Given the description of an element on the screen output the (x, y) to click on. 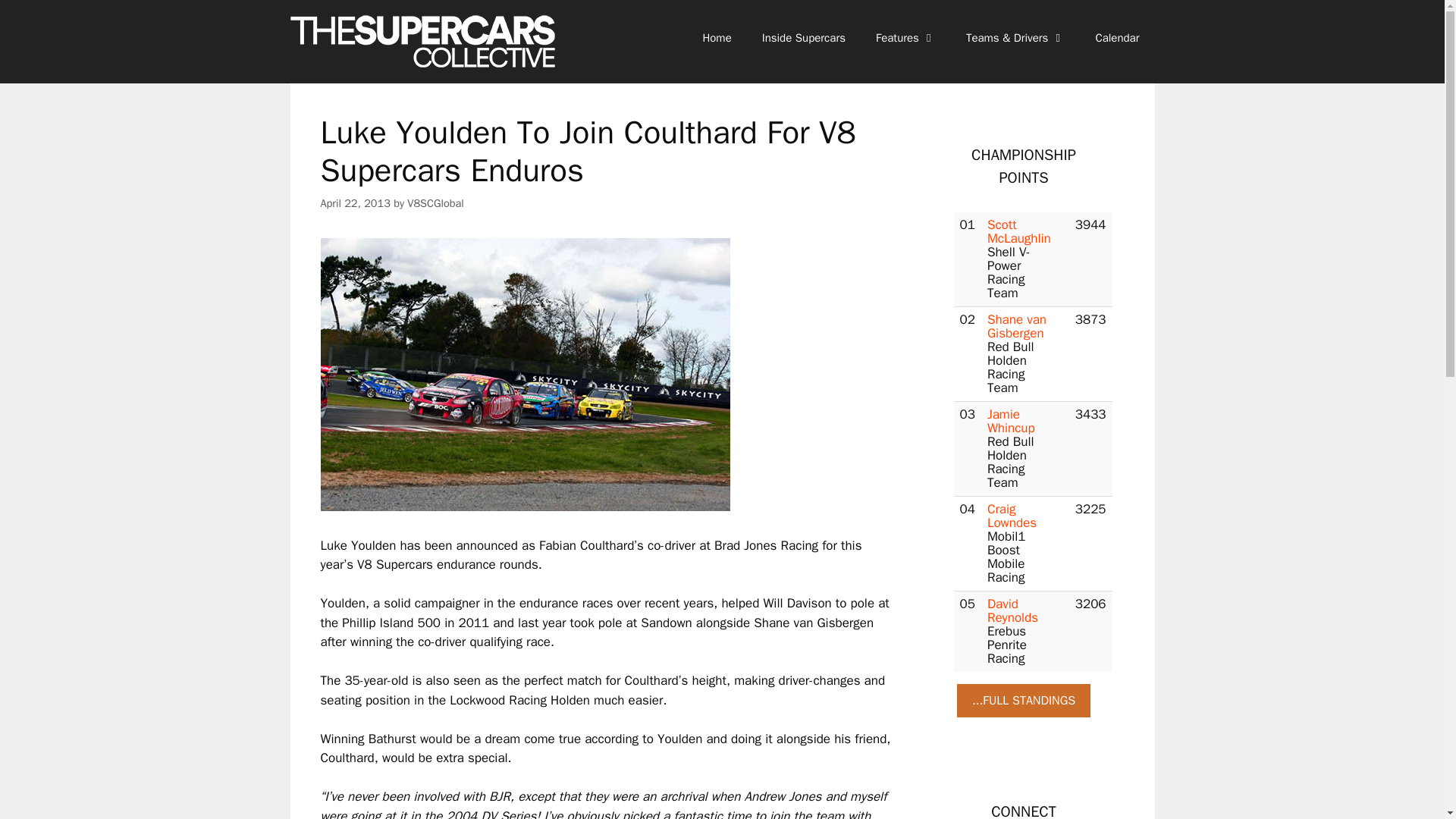
V8SCGlobal (435, 202)
Calendar (1117, 37)
Features (905, 37)
Inside Supercars (803, 37)
View all posts by V8SCGlobal (435, 202)
Home (716, 37)
